Given the description of an element on the screen output the (x, y) to click on. 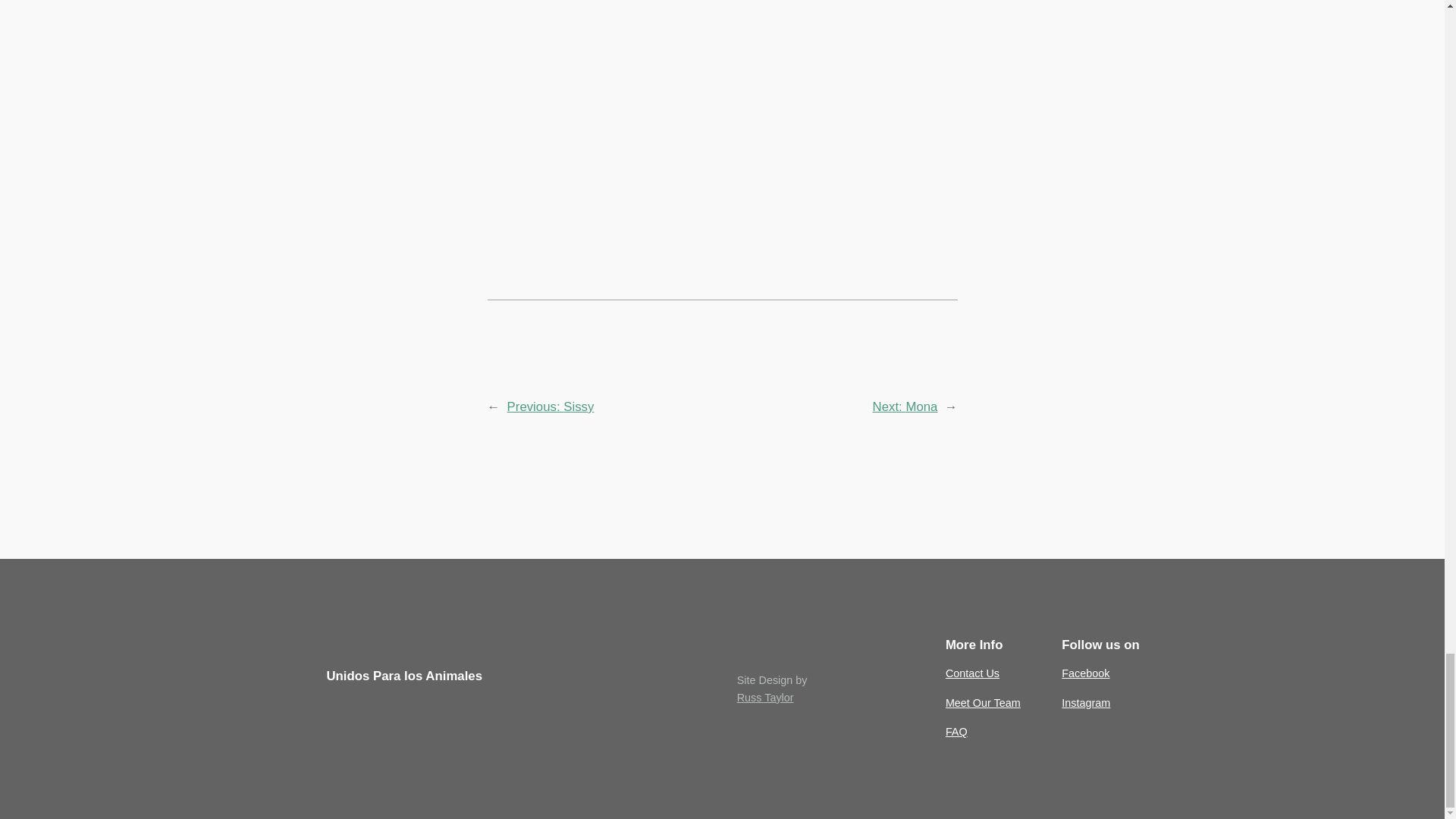
Russ Taylor (764, 697)
Contact Us (971, 673)
Facebook (1085, 673)
Meet Our Team (982, 702)
Unidos Para los Animales (403, 676)
Previous: Sissy (550, 406)
Next: Mona (904, 406)
FAQ (956, 731)
Instagram (1085, 702)
